Given the description of an element on the screen output the (x, y) to click on. 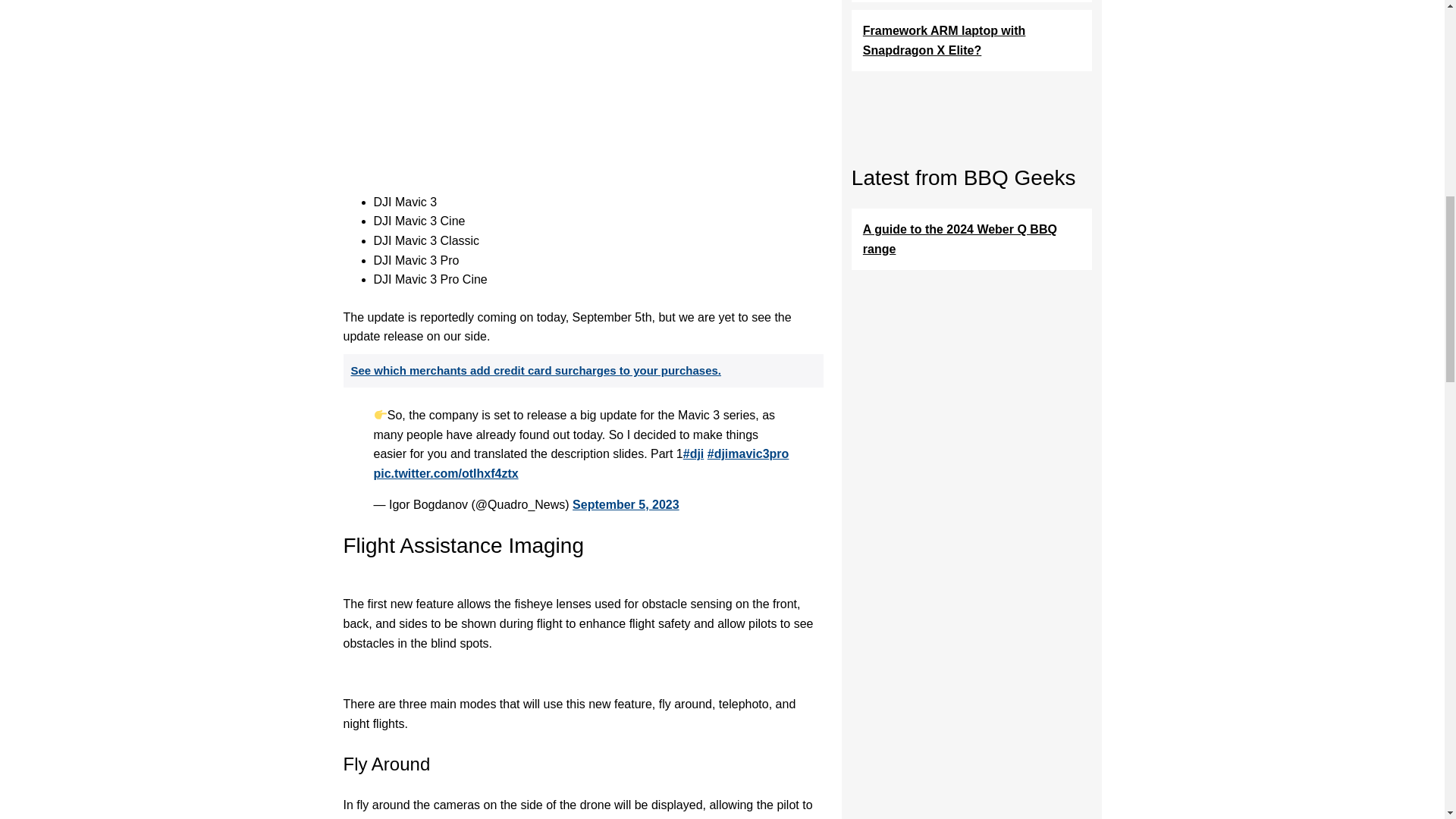
Advertisement (582, 87)
September 5, 2023 (625, 504)
A guide to the 2024 Weber Q BBQ range (971, 239)
Framework ARM laptop with Snapdragon X Elite? (971, 40)
